Given the description of an element on the screen output the (x, y) to click on. 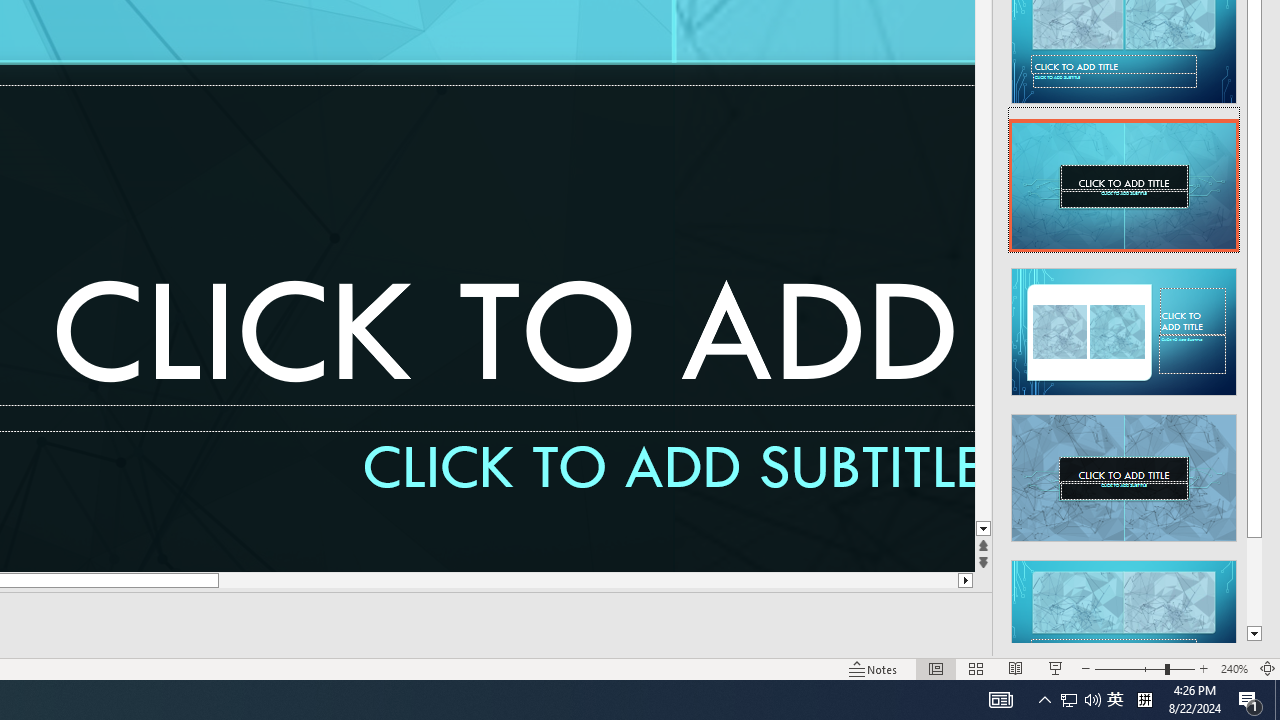
Zoom 240% (1234, 668)
Design Idea (1124, 618)
Page down (1254, 581)
